Given the description of an element on the screen output the (x, y) to click on. 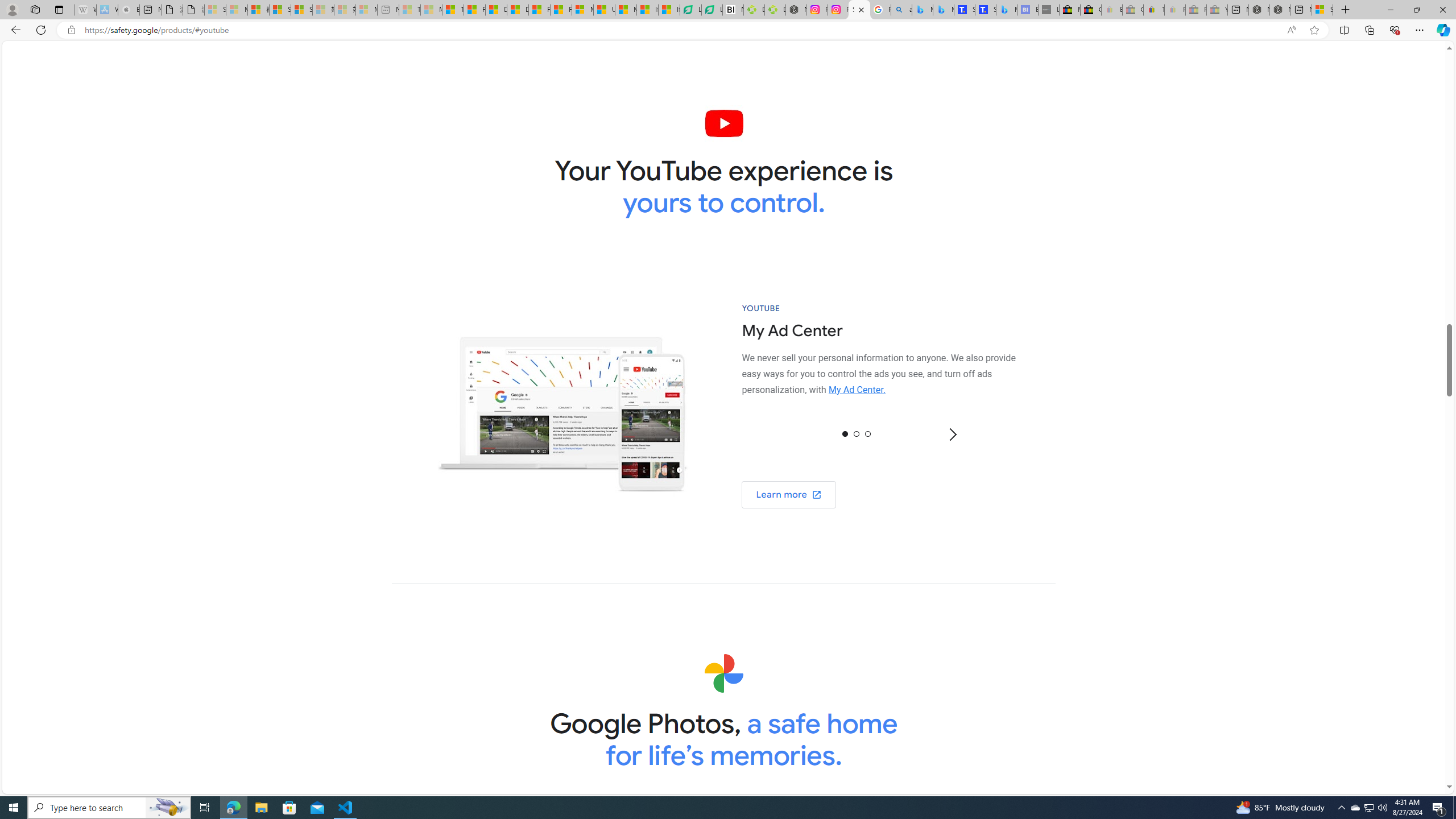
Safety in Our Products - Google Safety Center (859, 9)
Drinking tea every day is proven to delay biological aging (517, 9)
A laptop and phone featuring YouTube (561, 405)
LendingTree - Compare Lenders (712, 9)
Microsoft account | Account Checkup - Sleeping (365, 9)
1 (855, 433)
